Given the description of an element on the screen output the (x, y) to click on. 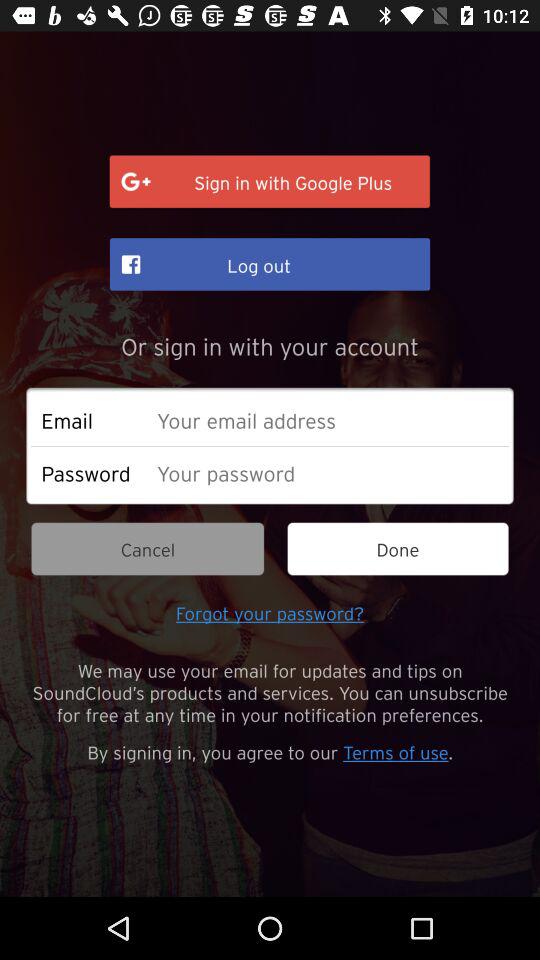
select cancel (146, 549)
click on logout (269, 264)
go to first option (269, 181)
select the text field which says your password (327, 473)
